Given the description of an element on the screen output the (x, y) to click on. 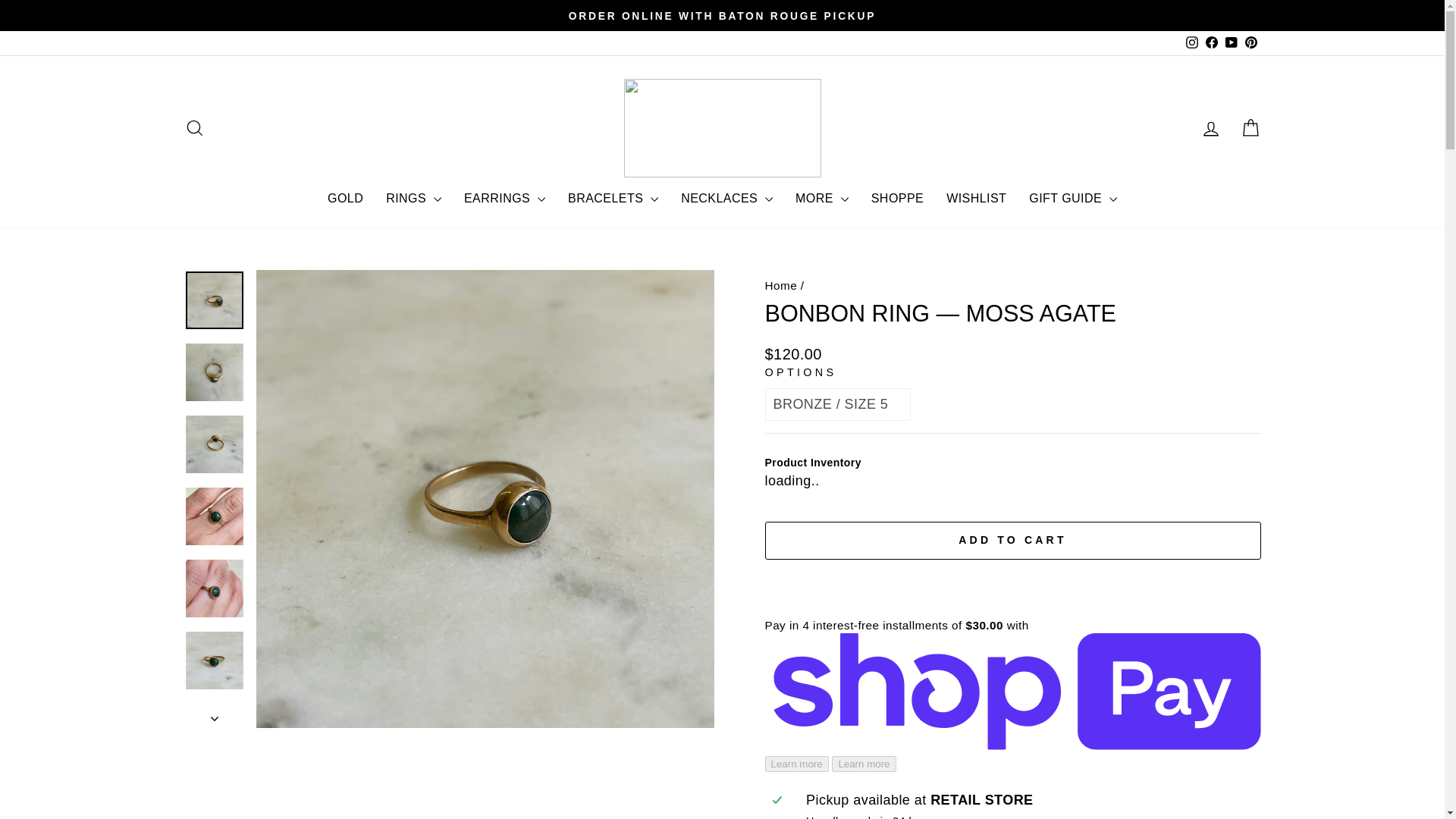
icon-chevron (214, 718)
ORDER ONLINE WITH BATON ROUGE PICKUP (722, 15)
instagram (1192, 42)
account (1210, 128)
Back to the frontpage (780, 285)
icon-search (194, 127)
